Given the description of an element on the screen output the (x, y) to click on. 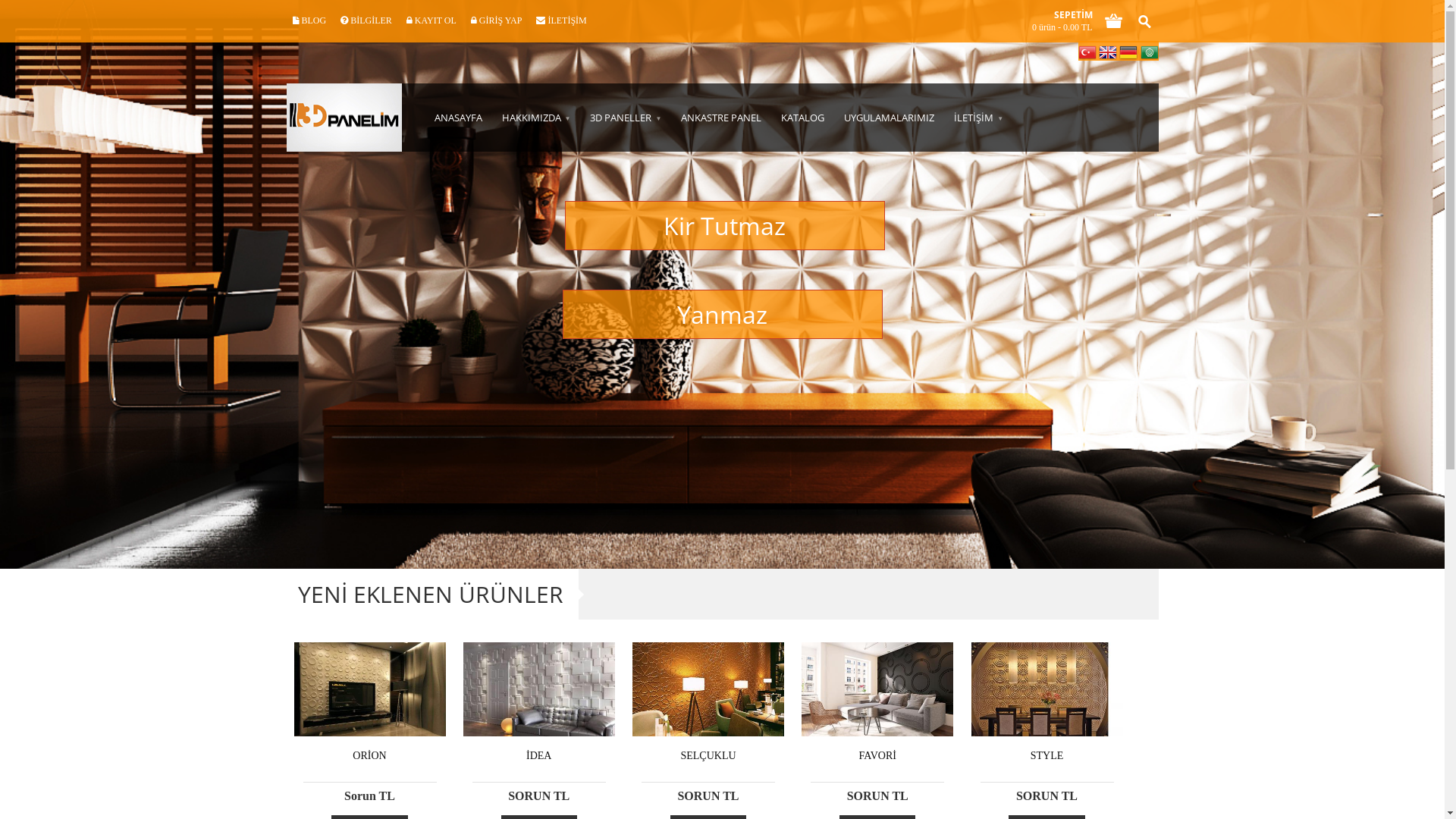
English Element type: hover (1107, 52)
BILGILER Element type: text (366, 20)
STYLE Element type: text (1046, 754)
German Element type: hover (1128, 52)
BLOG Element type: text (309, 20)
ANKASTRE PANEL Element type: text (721, 117)
Arabic Element type: hover (1149, 52)
HAKKIMIZDA Element type: text (535, 117)
FAVORI Element type: text (877, 754)
ANASAYFA Element type: text (458, 117)
Turkish Element type: hover (1087, 52)
ORION Element type: text (369, 754)
UYGULAMALARIMIZ Element type: text (889, 117)
KAYIT OL Element type: text (431, 20)
3d Panelim Element type: hover (343, 117)
KATALOG Element type: text (802, 117)
3D PANELLER Element type: text (625, 117)
